Given the description of an element on the screen output the (x, y) to click on. 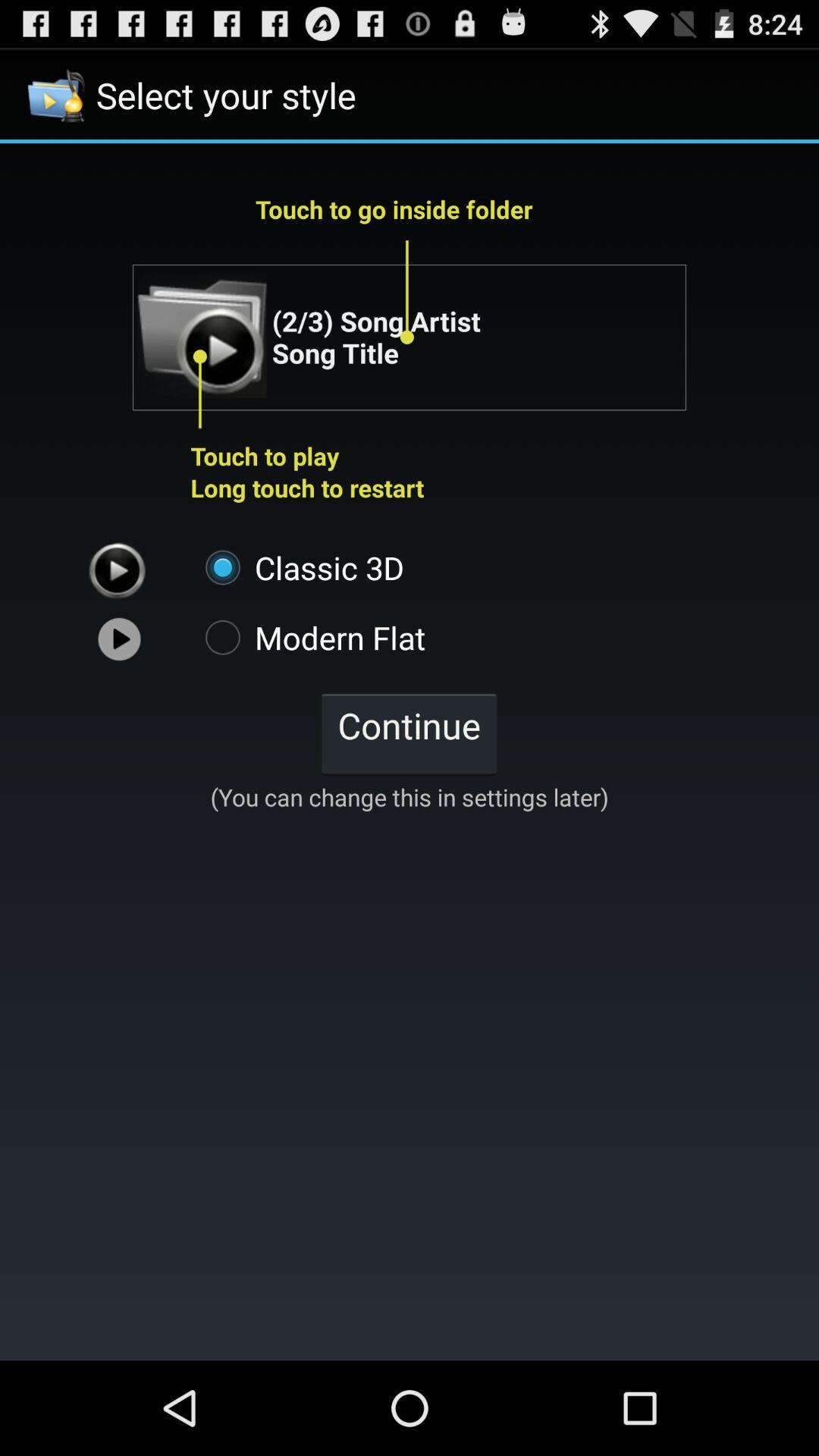
scroll to continue (408, 732)
